Given the description of an element on the screen output the (x, y) to click on. 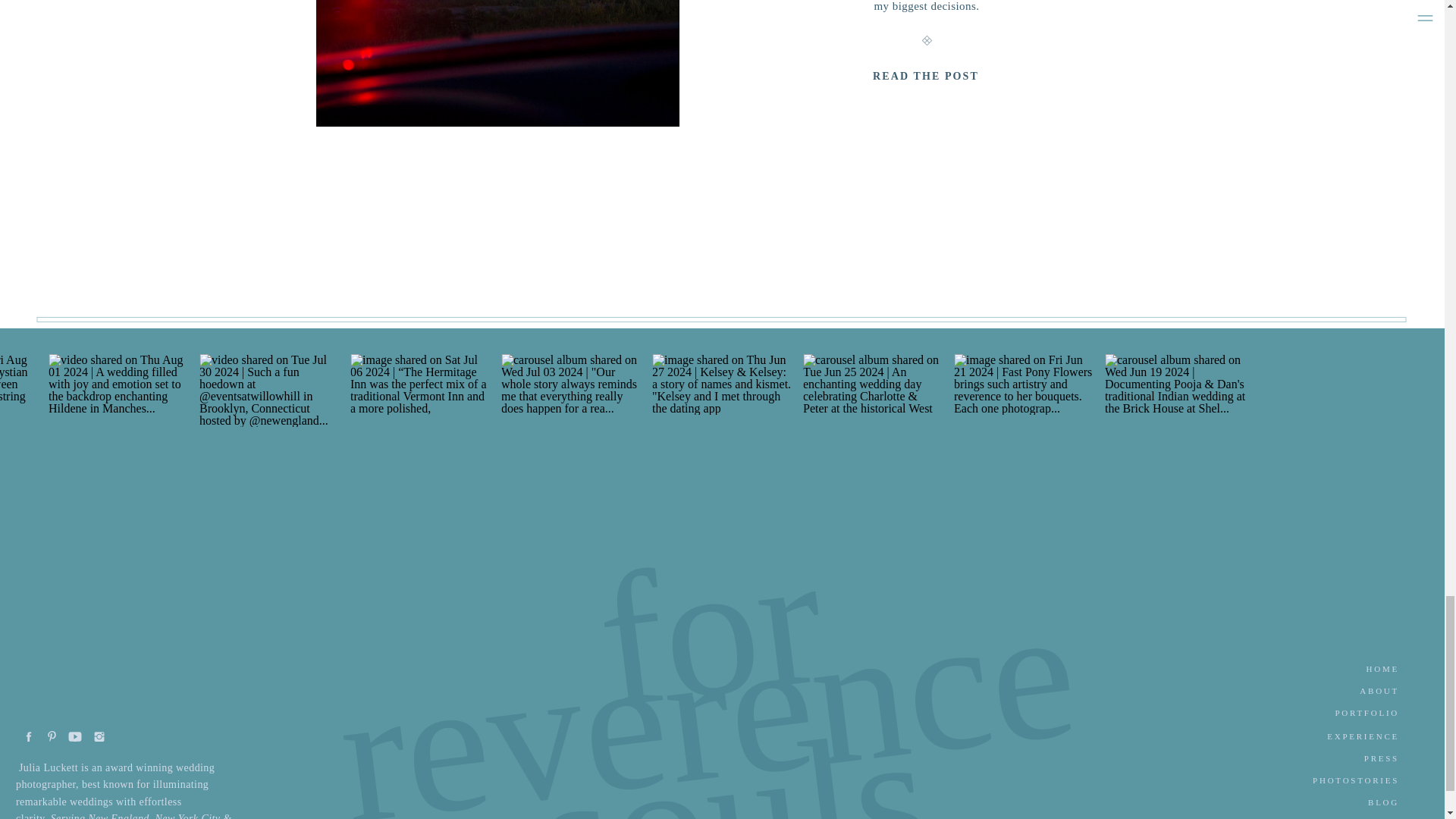
READ THE POST (926, 76)
One Year Out (496, 63)
One Year Out (926, 76)
